Given the description of an element on the screen output the (x, y) to click on. 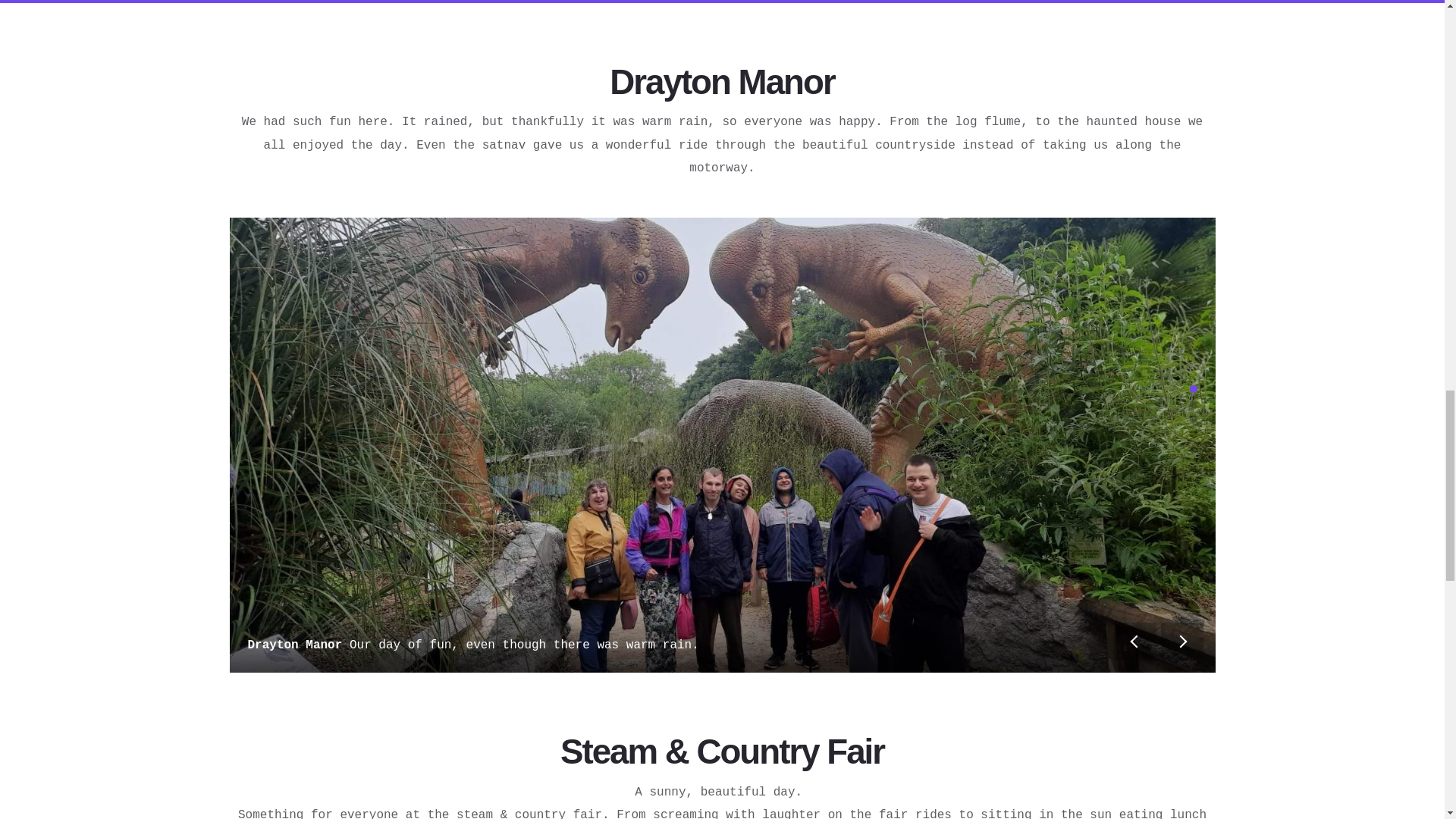
2 (1192, 403)
5 (1192, 449)
1 (1192, 388)
3 (1192, 419)
4 (1192, 434)
